Given the description of an element on the screen output the (x, y) to click on. 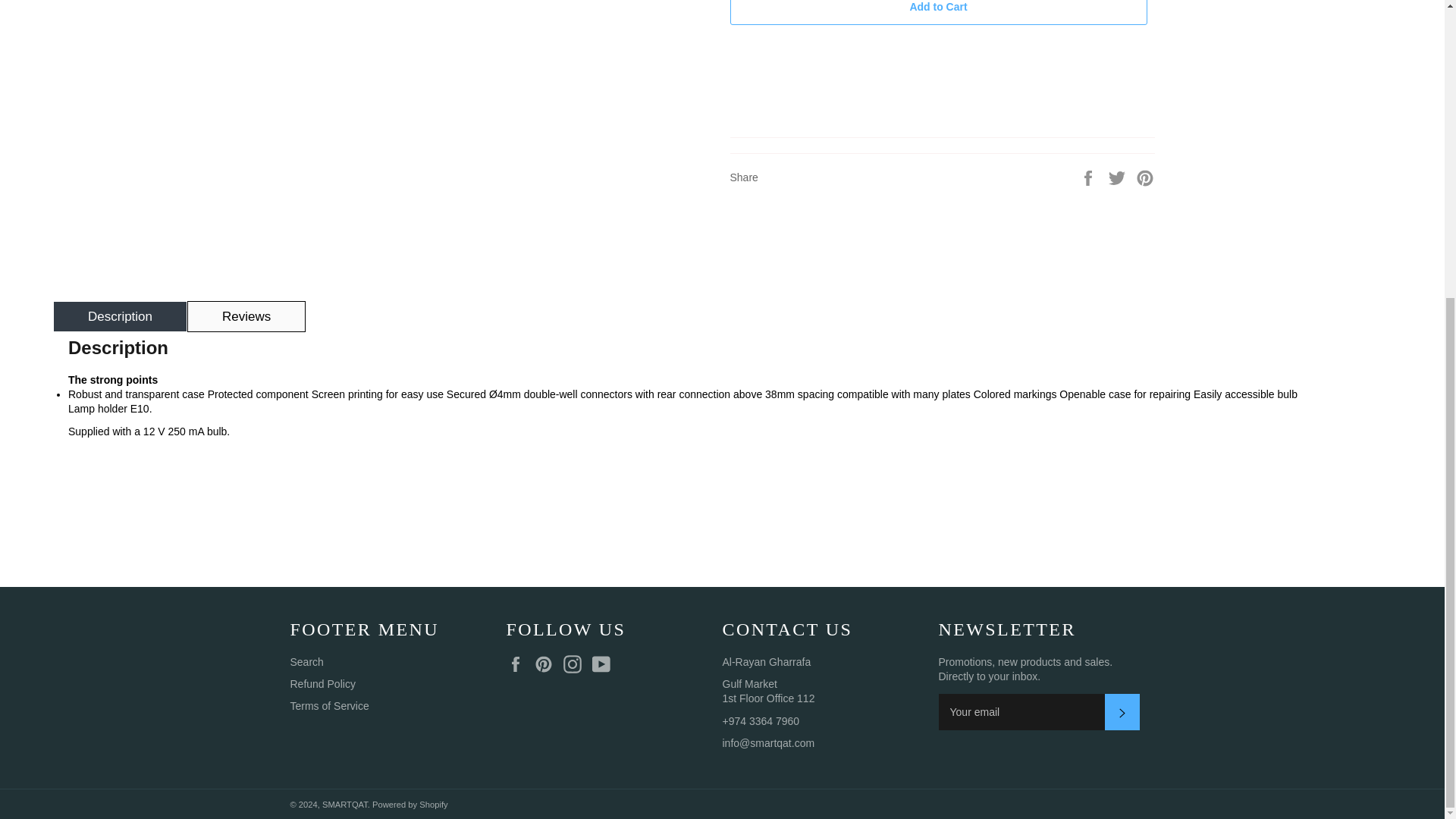
Tweet on Twitter (1118, 176)
Share on Facebook (1089, 176)
SMARTQAT on Pinterest (547, 664)
Pinterest (547, 664)
Pin on Pinterest (1144, 176)
Share on Facebook (1089, 176)
Description (119, 316)
Instagram (576, 664)
YouTube (604, 664)
SMARTQAT on Facebook (519, 664)
